Given the description of an element on the screen output the (x, y) to click on. 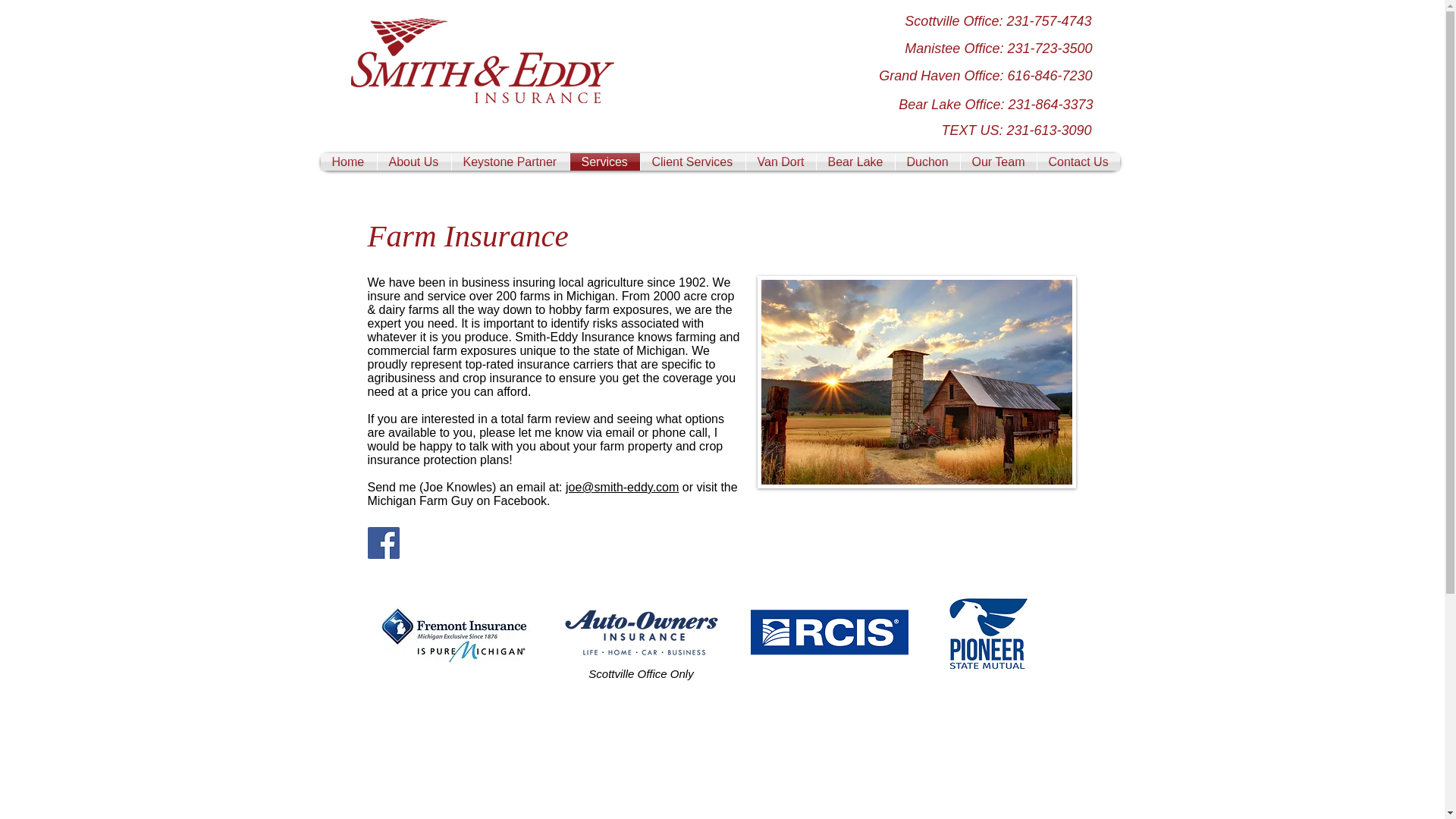
Bear Lake Office: 231-864-3373 (965, 105)
TEXT US: 231-613-3090 (962, 130)
Bear Lake (854, 161)
Duchon (927, 161)
Scottville Office: 231-757-4743 (962, 21)
Client Services (692, 161)
Grand Haven Office: 616-846-7230 (965, 76)
About Us (414, 161)
Contact Us (1077, 161)
Van Dort (780, 161)
